Given the description of an element on the screen output the (x, y) to click on. 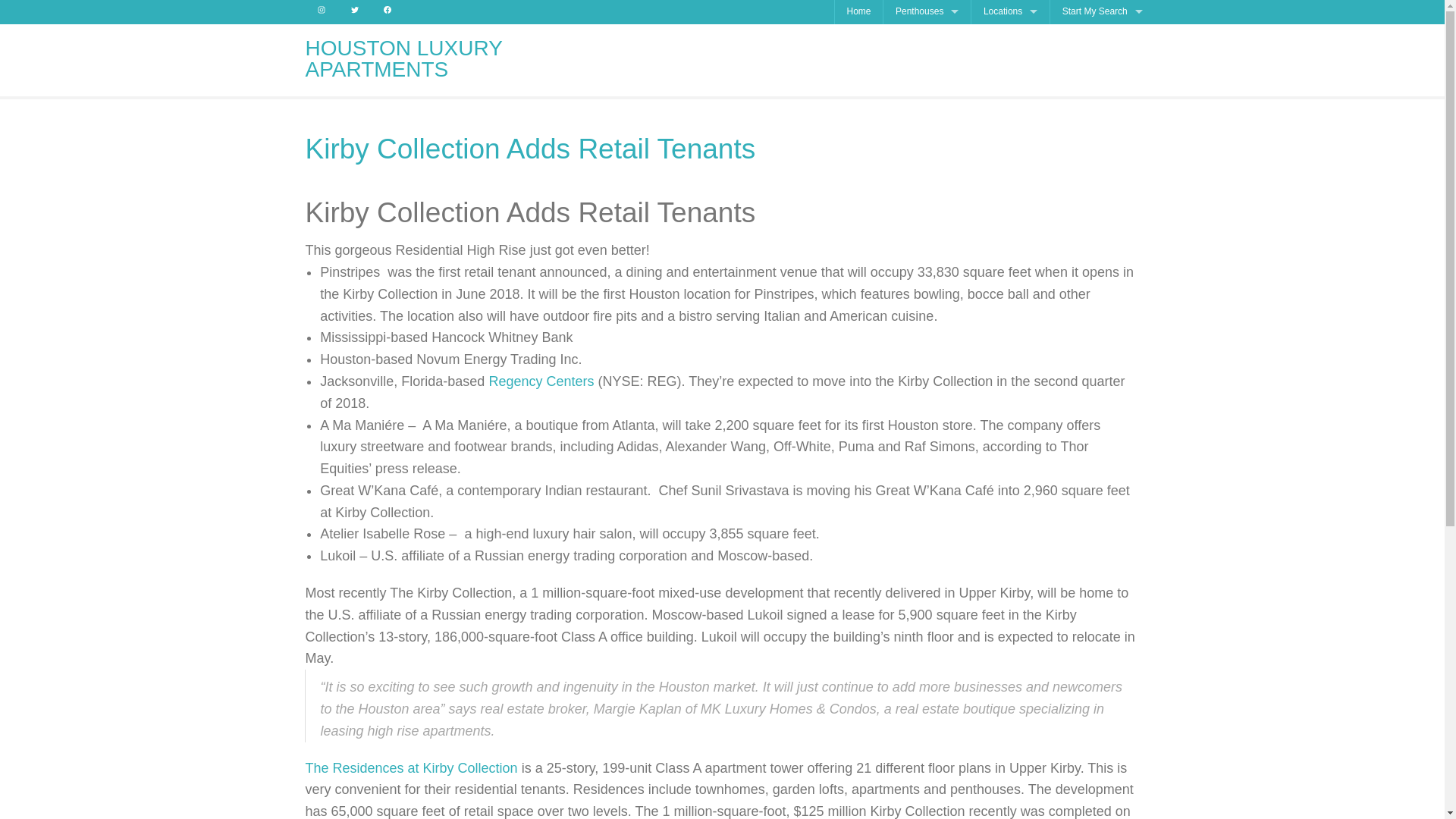
One Park Place Penthouse (927, 83)
Send Me Apartment Specials (1101, 36)
The Carter Penthouse (927, 107)
Twitter (354, 12)
River Oaks (1010, 83)
Houston Luxury Apartments (403, 58)
Upper Kirby (1010, 131)
Instagram (320, 12)
Medical Center (1010, 107)
Facebook (387, 12)
The Westin Penthouses (927, 155)
